Given the description of an element on the screen output the (x, y) to click on. 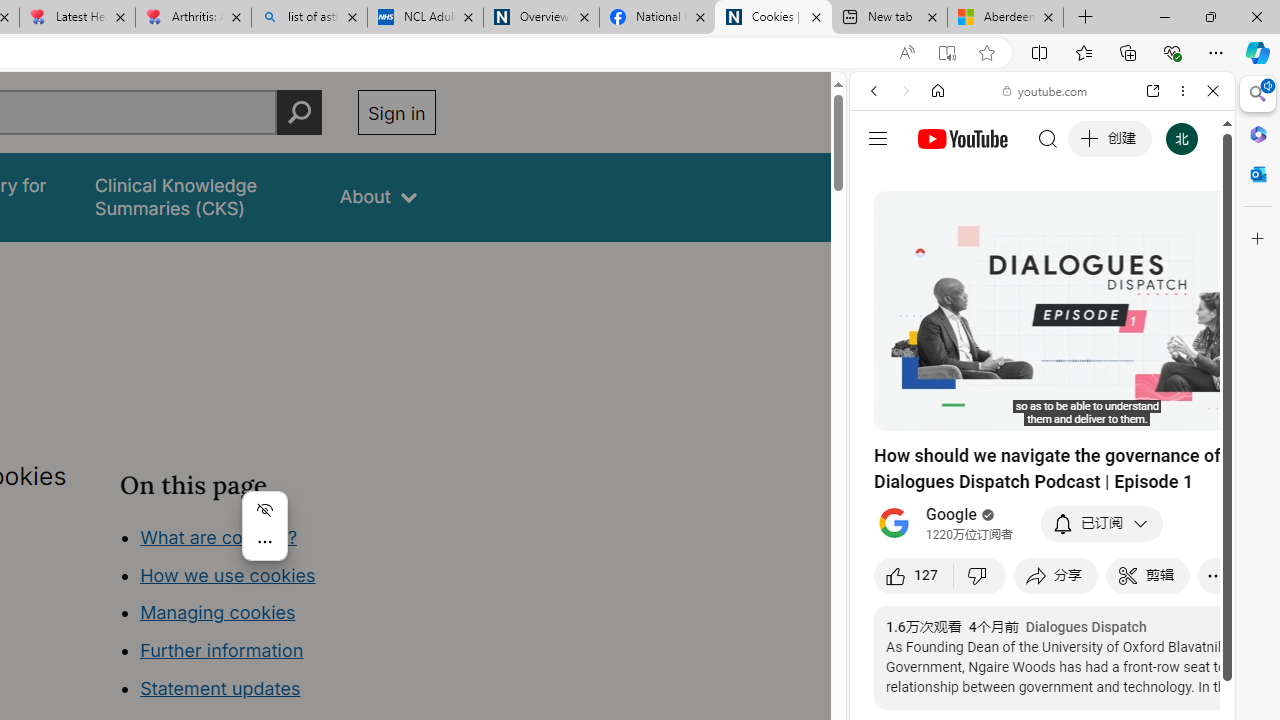
Class: ytp-subtitles-button-icon (1127, 412)
Further information (221, 650)
Class: in-page-nav__list (277, 615)
Perform search (299, 112)
